Given the description of an element on the screen output the (x, y) to click on. 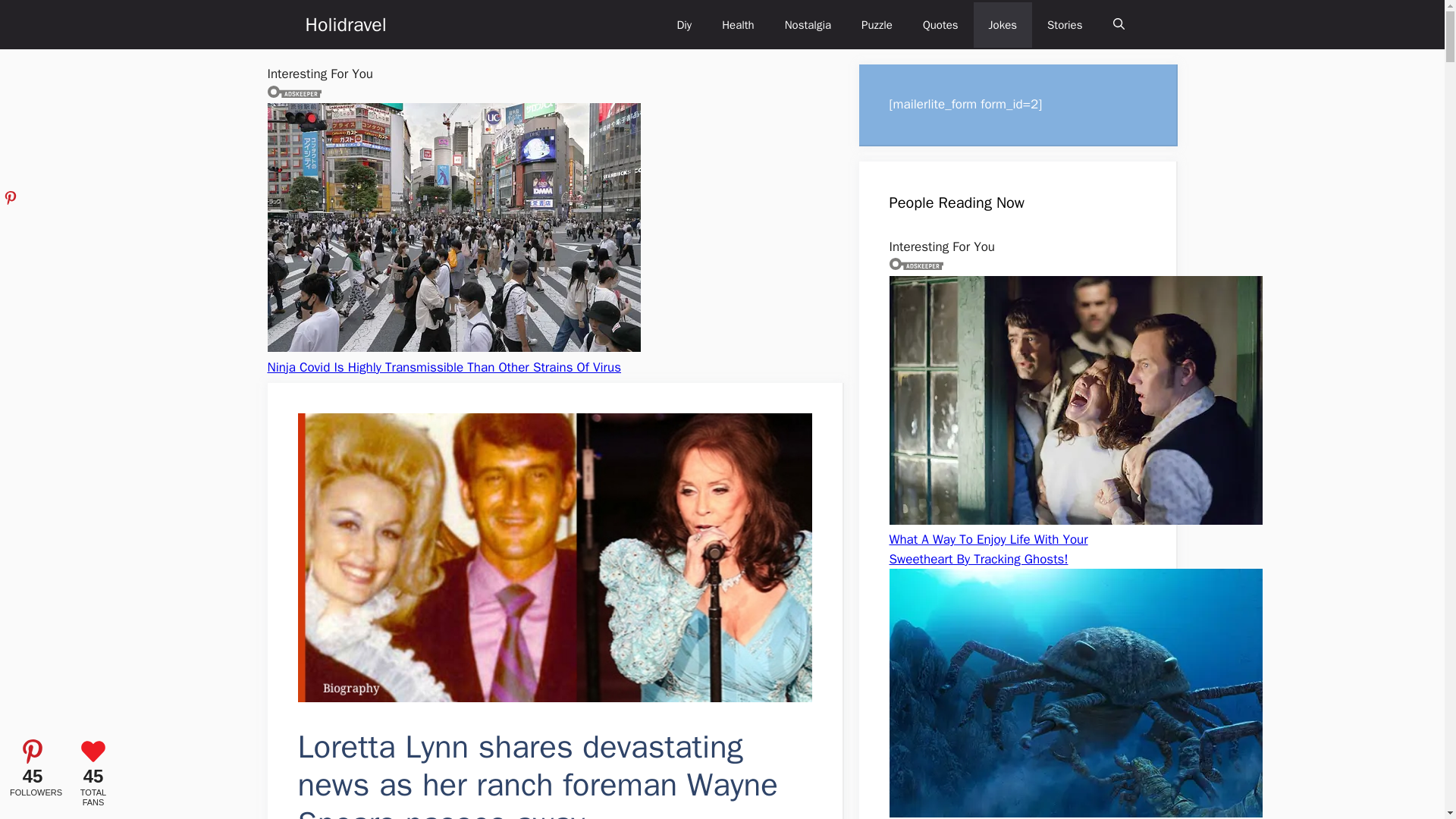
Stories (1064, 23)
Quotes (940, 23)
Health (738, 23)
Holidravel (344, 24)
Nostalgia (807, 23)
Diy (683, 23)
Jokes (1003, 23)
Puzzle (876, 23)
